Given the description of an element on the screen output the (x, y) to click on. 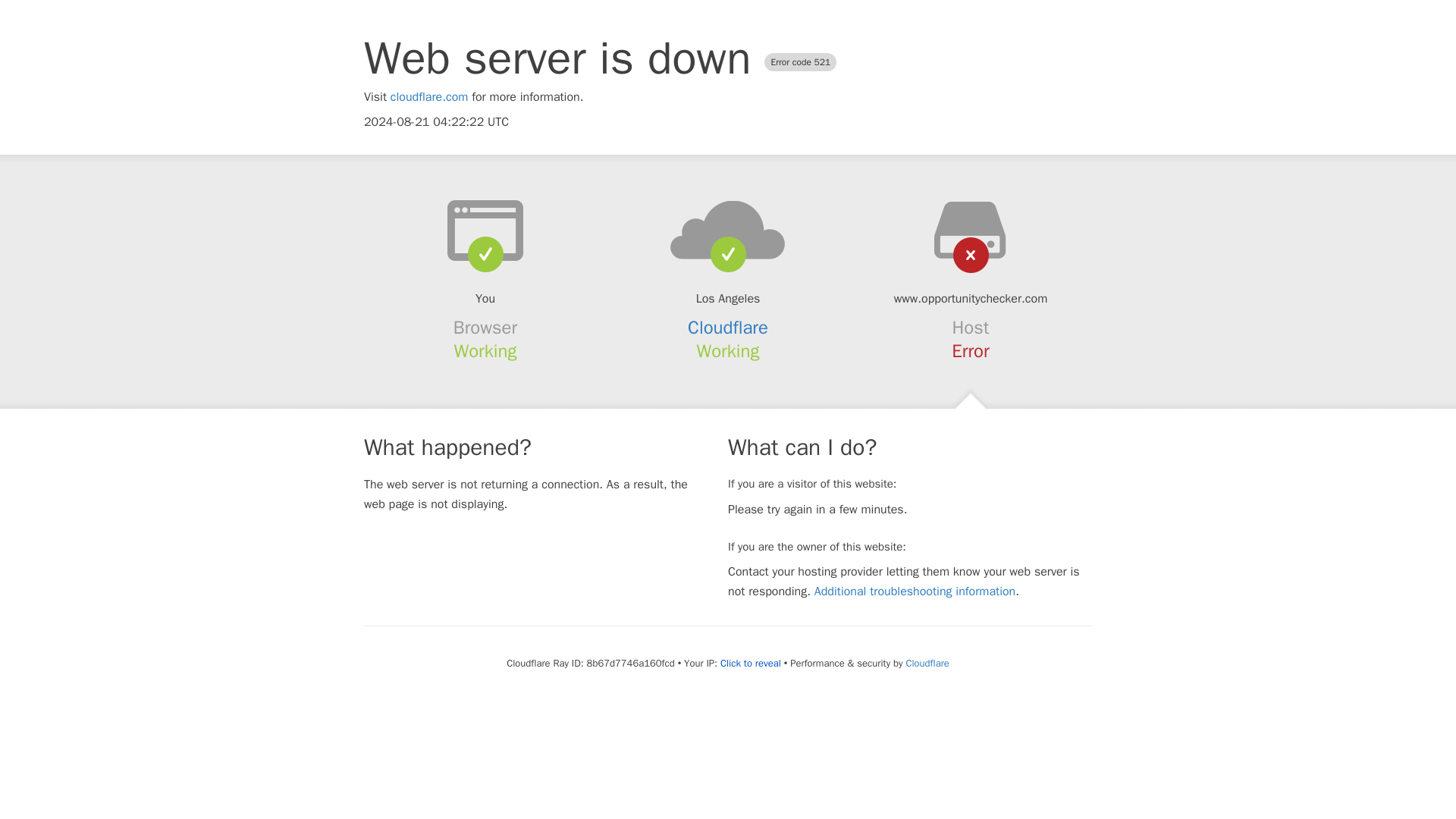
Additional troubleshooting information (913, 590)
cloudflare.com (429, 96)
Cloudflare (927, 662)
Cloudflare (727, 327)
Click to reveal (750, 663)
